Given the description of an element on the screen output the (x, y) to click on. 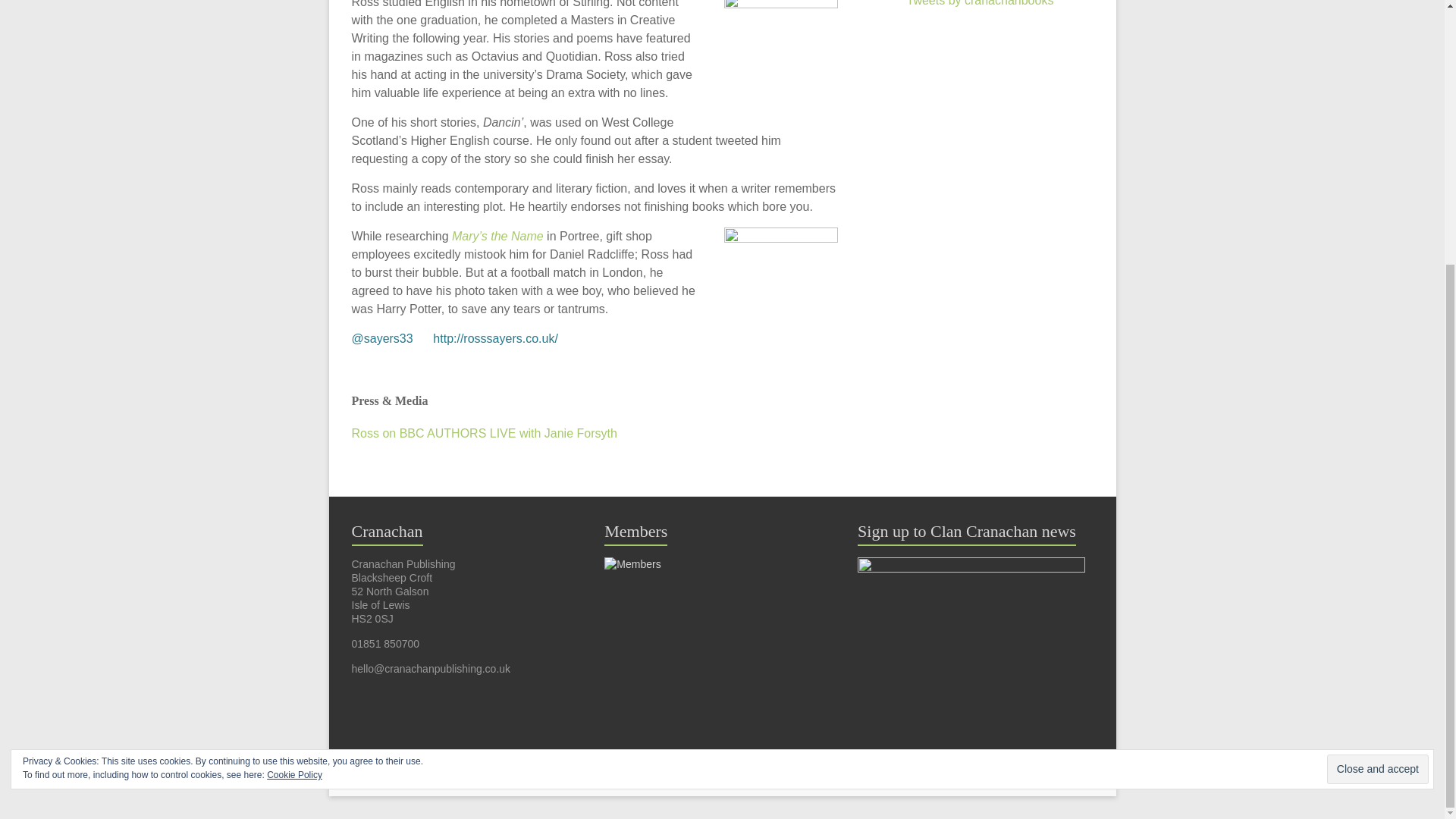
Newsletter sign up box website (970, 563)
Tweets by cranachanbooks (980, 3)
Close and accept (1377, 387)
Cranachan Publishing (489, 770)
Cranachan Publishing (489, 770)
Close and accept (1377, 387)
Ross on BBC AUTHORS LIVE with Janie Forsyth (484, 432)
Members (632, 563)
Cookie Policy (293, 393)
Privacy Policy (579, 770)
